Given the description of an element on the screen output the (x, y) to click on. 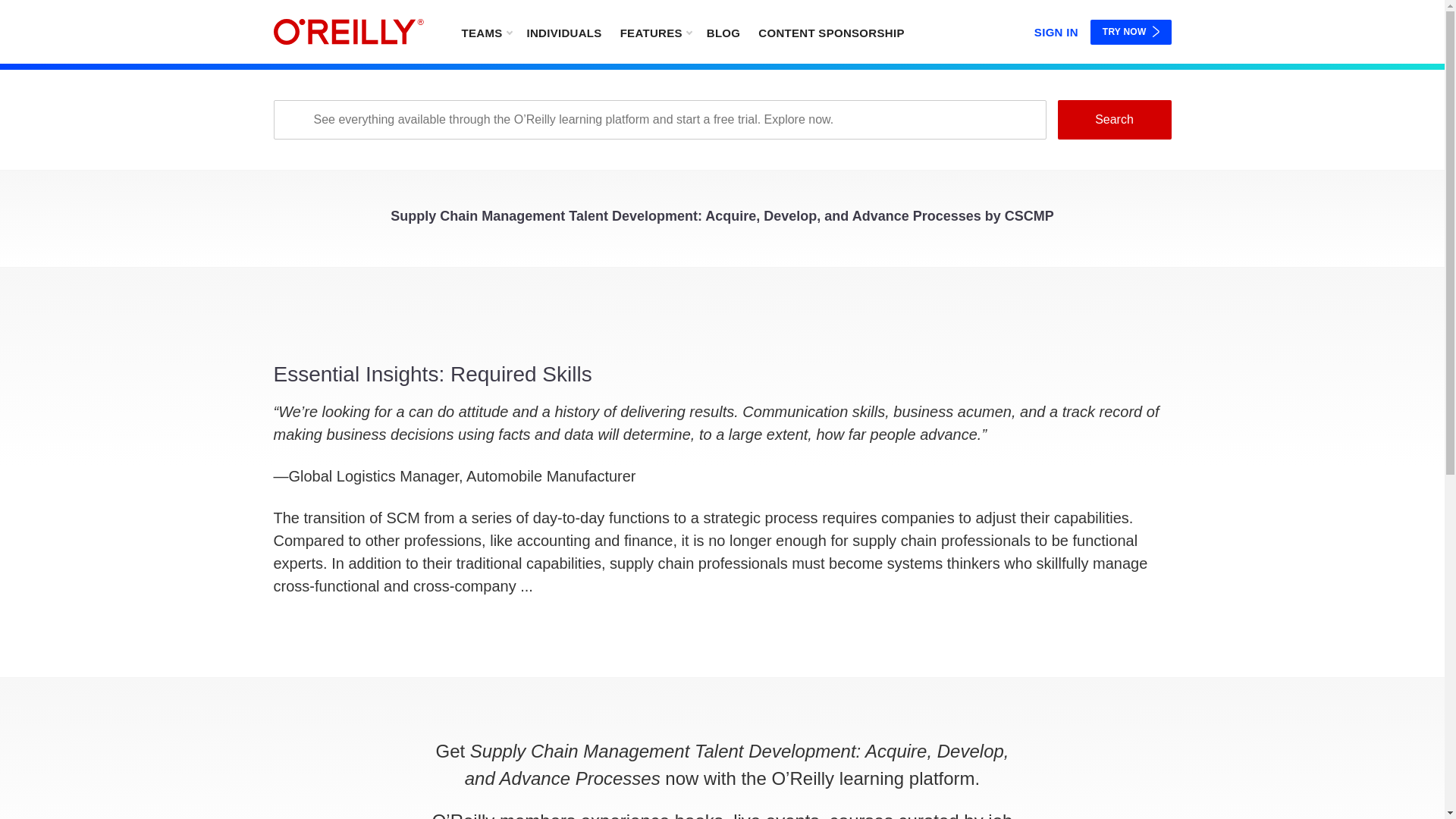
TEAMS (486, 31)
FEATURES (655, 31)
SIGN IN (1055, 29)
INDIVIDUALS (563, 31)
CONTENT SPONSORSHIP (831, 31)
TRY NOW (1131, 32)
home page (348, 31)
Search (1113, 119)
BLOG (723, 31)
Search (1113, 119)
Search (1113, 119)
